Given the description of an element on the screen output the (x, y) to click on. 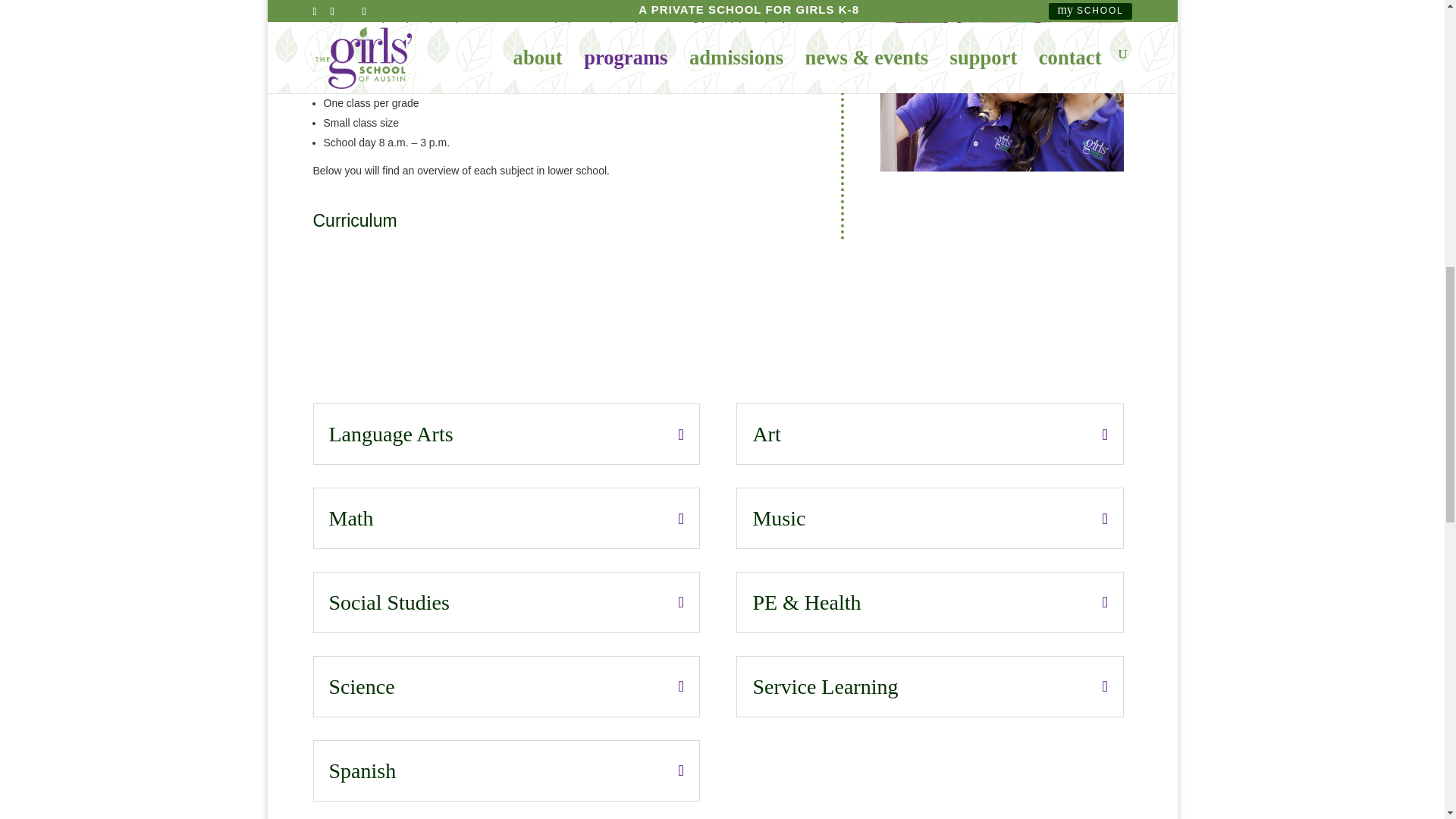
Untitled design - 2023-08-24T133941.683 (1001, 104)
